Given the description of an element on the screen output the (x, y) to click on. 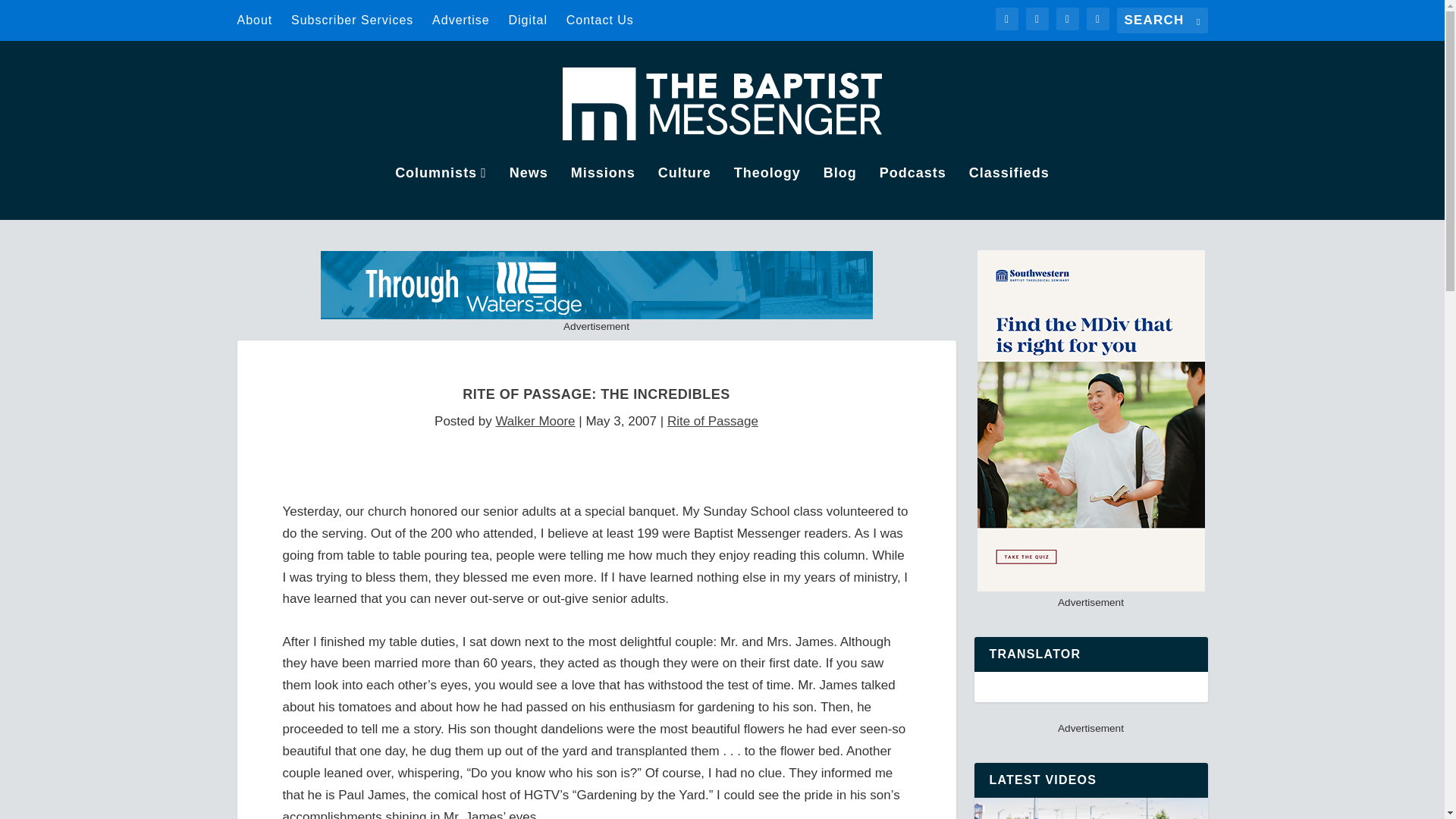
Subscriber Services (352, 20)
Advertise (460, 20)
Culture (684, 193)
About (253, 20)
Contact Us (599, 20)
Podcasts (912, 193)
Columnists (440, 193)
Missions (602, 193)
Classifieds (1009, 193)
Search for: (1161, 20)
Posts by Walker Moore (535, 421)
Digital (527, 20)
Theology (766, 193)
